Given the description of an element on the screen output the (x, y) to click on. 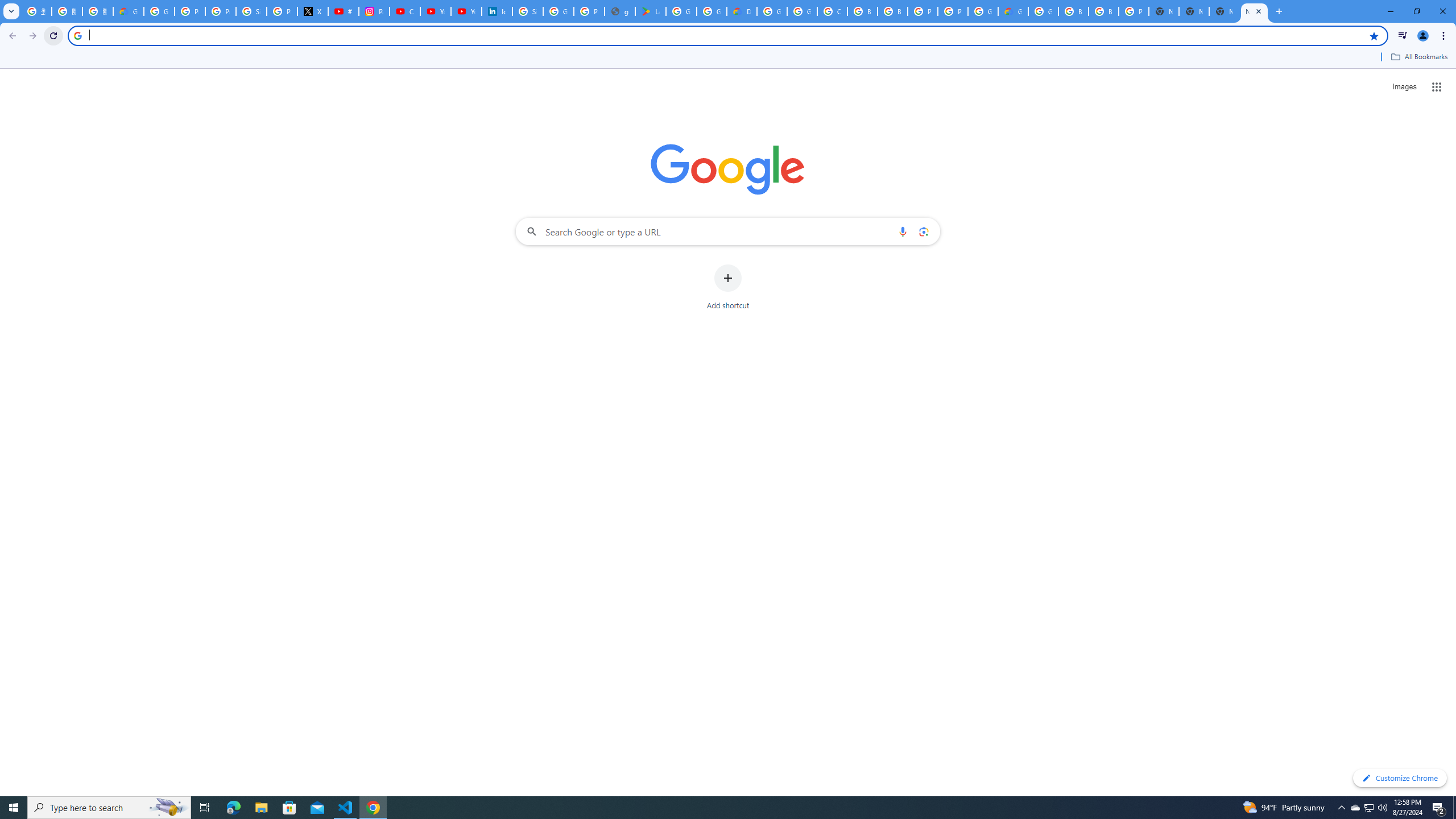
New Tab (1163, 11)
Browse Chrome as a guest - Computer - Google Chrome Help (1072, 11)
Sign in - Google Accounts (251, 11)
New Tab (1224, 11)
Google Cloud Estimate Summary (1012, 11)
